Given the description of an element on the screen output the (x, y) to click on. 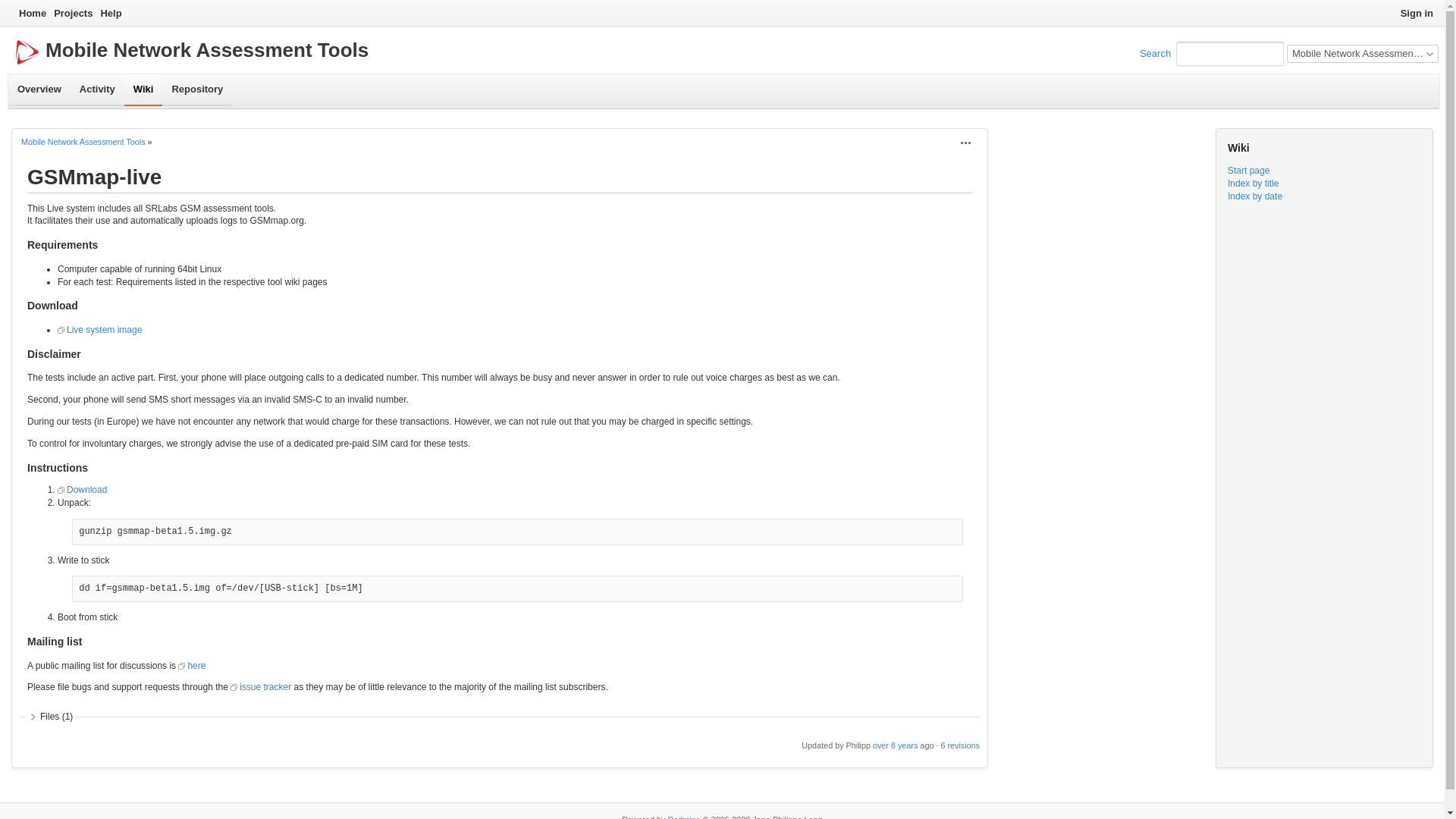
Wiki (143, 90)
Repository (196, 90)
Mobile Network Assessment Tools (83, 141)
Search (1155, 52)
issue tracker (260, 686)
Sign in (1416, 13)
Index by title (1252, 183)
6 revisions (959, 745)
Activity (96, 90)
Start page (1248, 170)
